Given the description of an element on the screen output the (x, y) to click on. 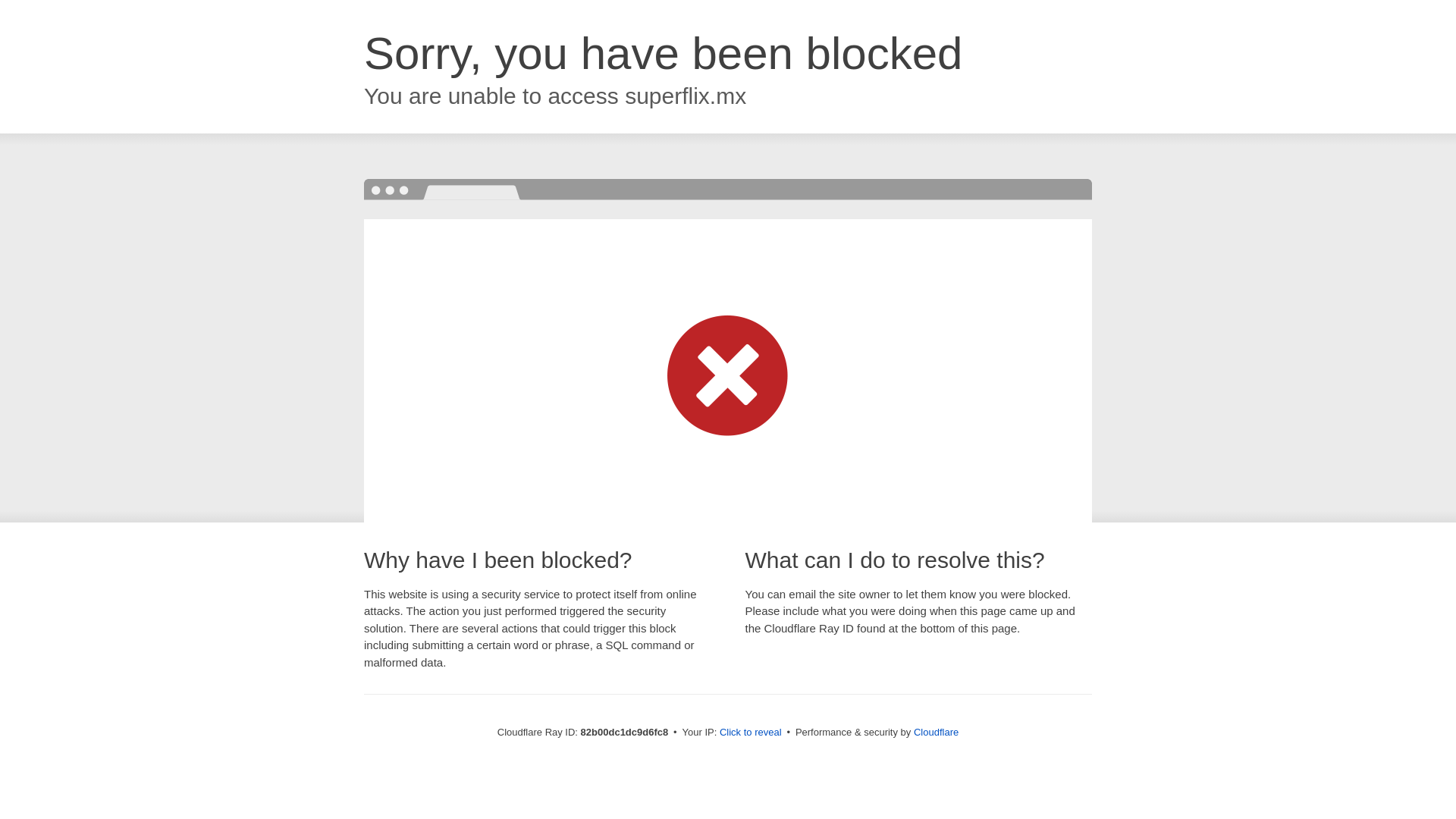
Cloudflare Element type: text (935, 731)
Click to reveal Element type: text (750, 732)
